Given the description of an element on the screen output the (x, y) to click on. 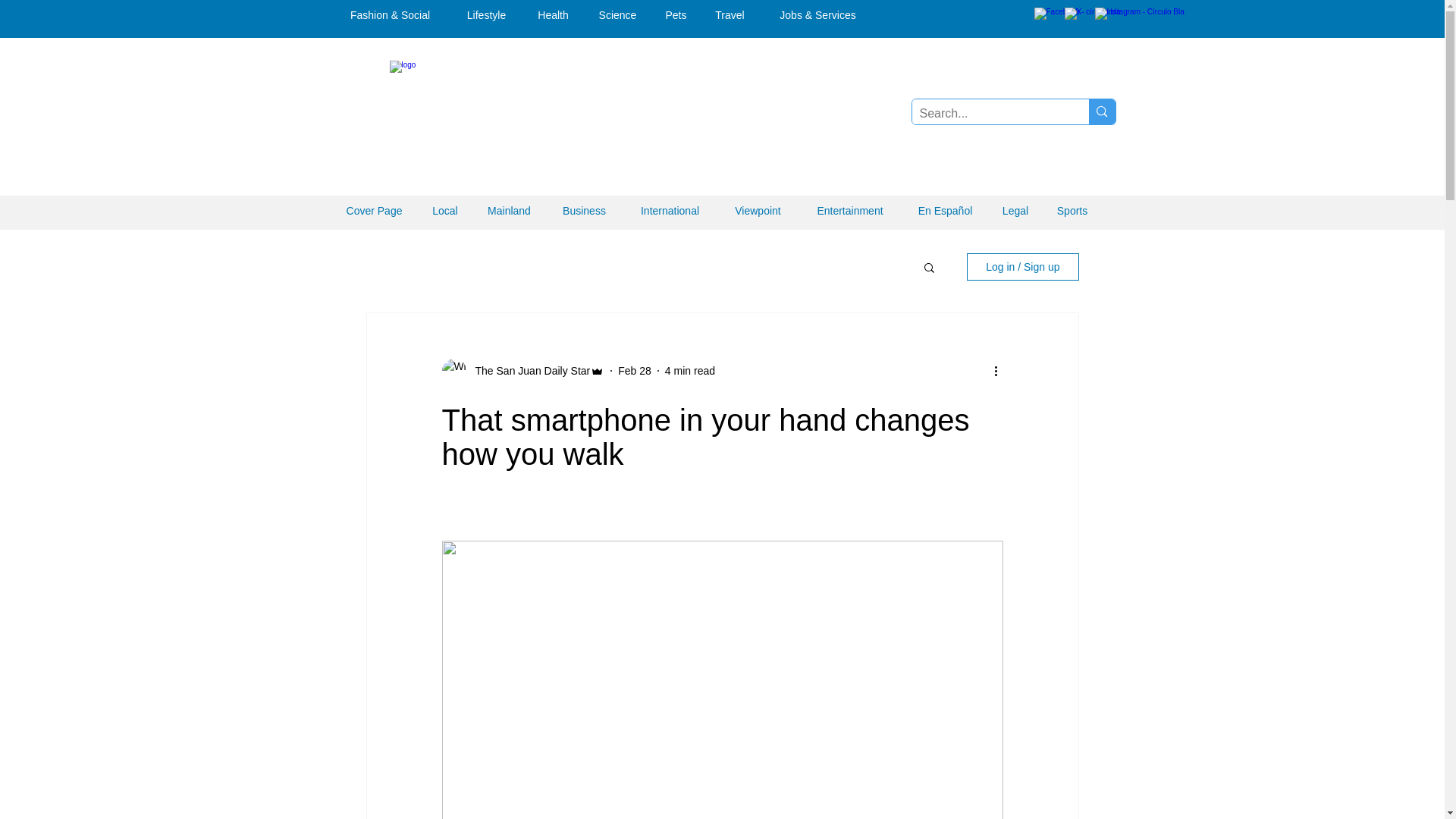
The San Juan Daily Star (527, 370)
Lifestyle (485, 15)
Cover Page (374, 210)
Business (583, 210)
Viewpoint (757, 210)
4 min read (689, 369)
Mainland (508, 210)
Feb 28 (633, 369)
Entertainment (849, 210)
International (669, 210)
